Given the description of an element on the screen output the (x, y) to click on. 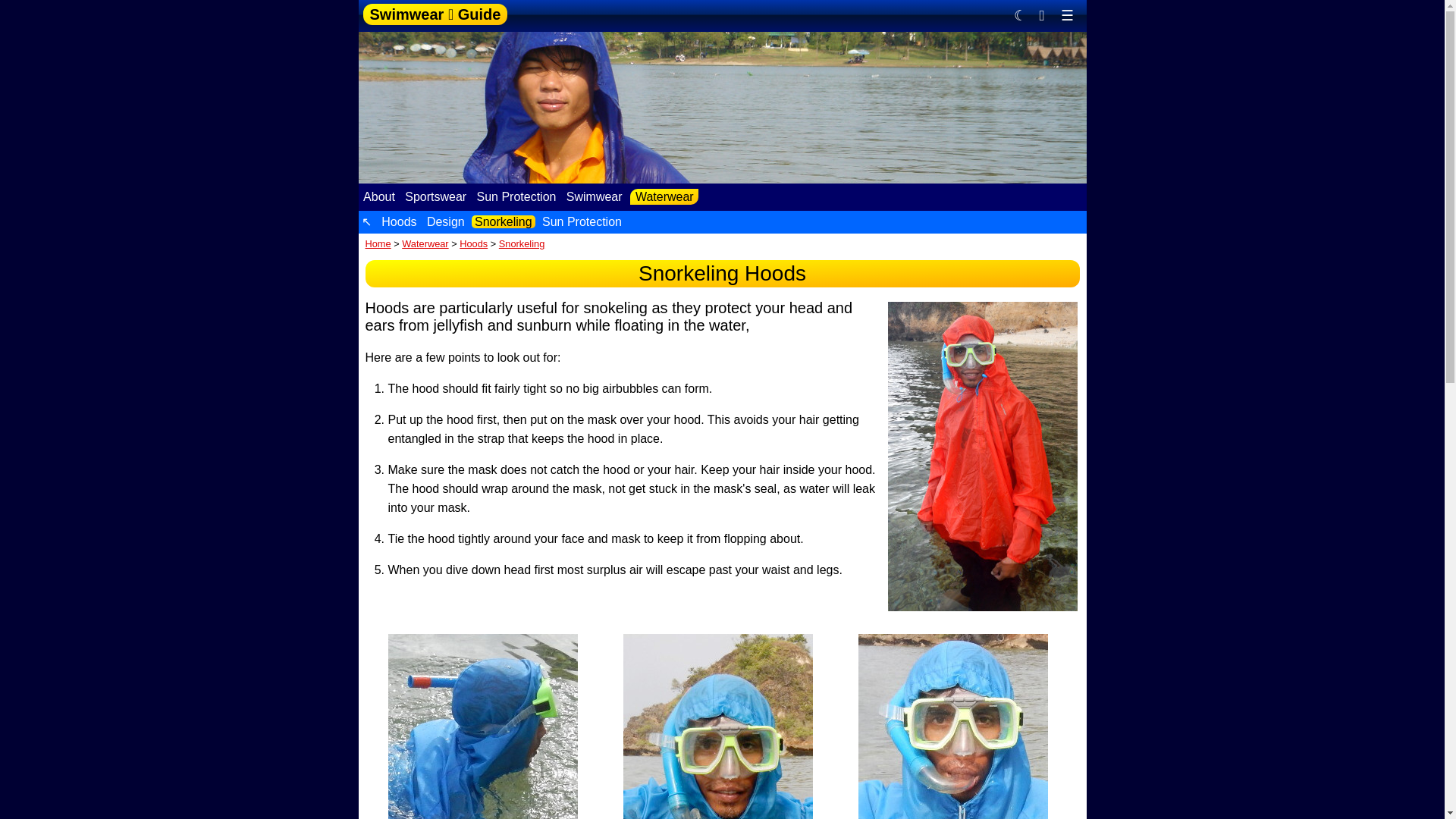
 Sportswear  (435, 196)
 Design  (445, 221)
Home (378, 243)
 Hoods  (399, 221)
Waterwear brings you convenience, warmth, and sun protection (664, 196)
Hoods Index (399, 221)
 Waterwear  (664, 196)
There is much more to swimwear than bikinis and shorts (594, 196)
Snorkeling (521, 243)
